Given the description of an element on the screen output the (x, y) to click on. 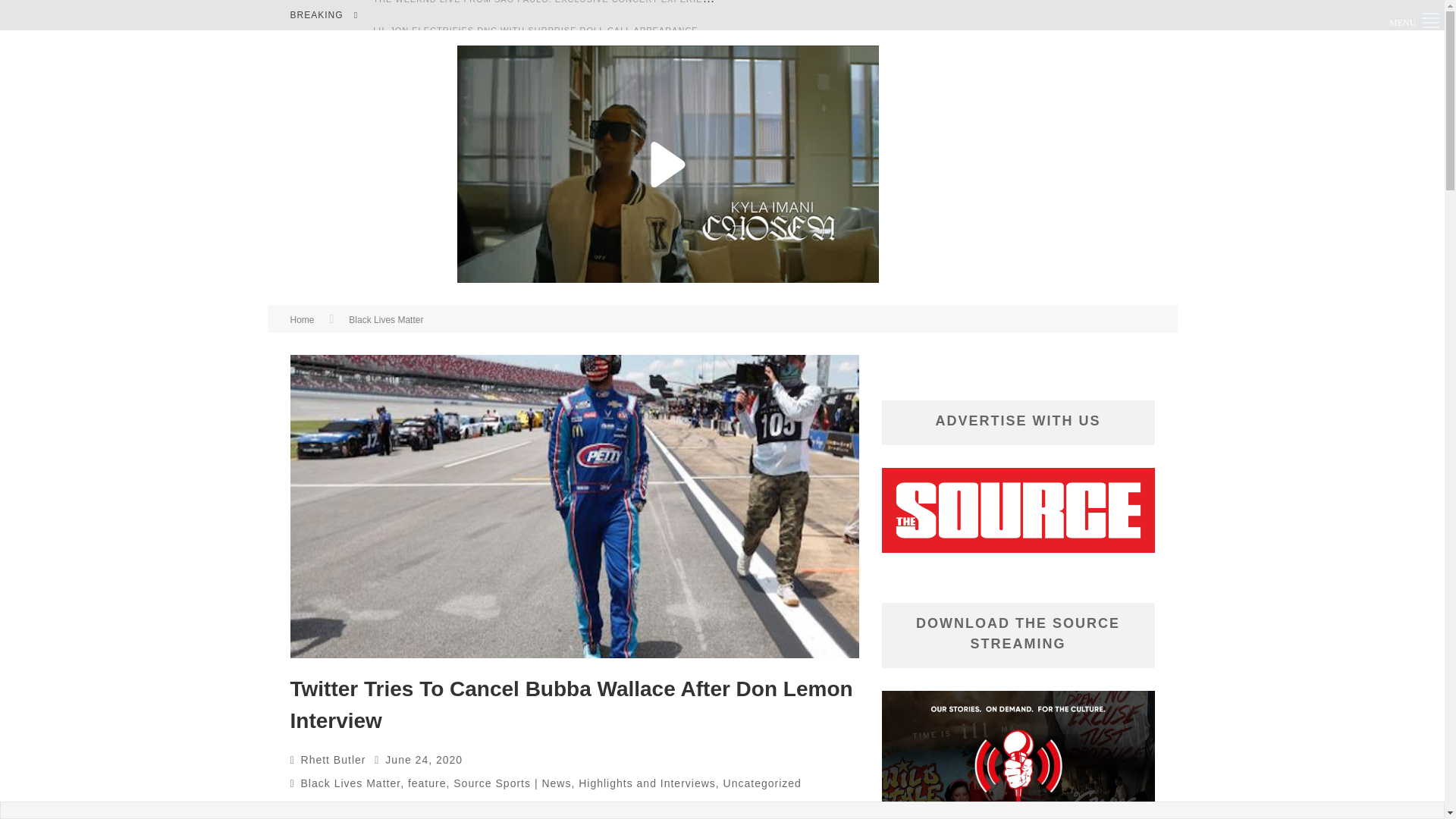
Vuukle Sharebar Widget (29, 138)
Rhett Butler (333, 759)
View all posts in Uncategorized (762, 783)
feature (426, 783)
View all posts in feature (426, 783)
View all posts in Black Lives Matter (386, 319)
Black Lives Matter (351, 783)
Black Lives Matter (386, 319)
